Given the description of an element on the screen output the (x, y) to click on. 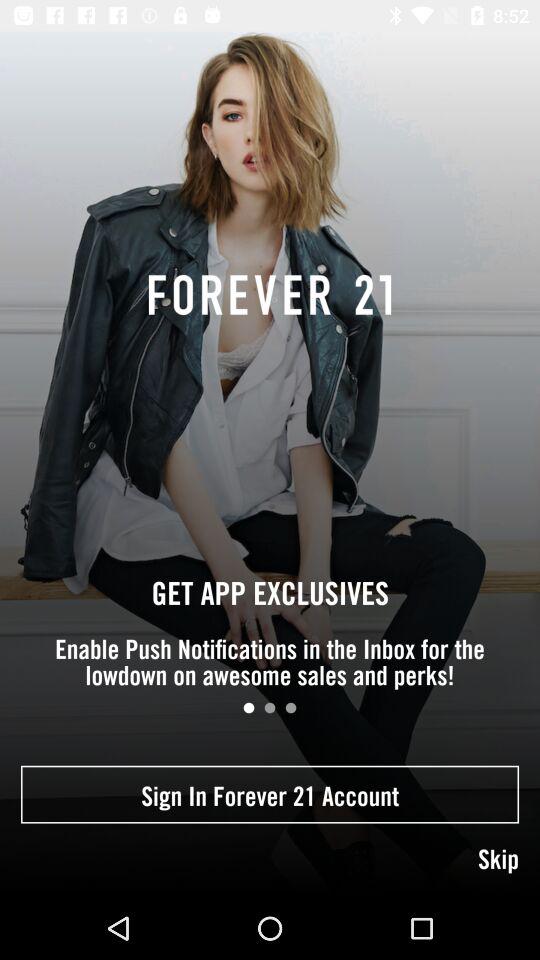
choose item below the enable push notifications item (290, 707)
